Given the description of an element on the screen output the (x, y) to click on. 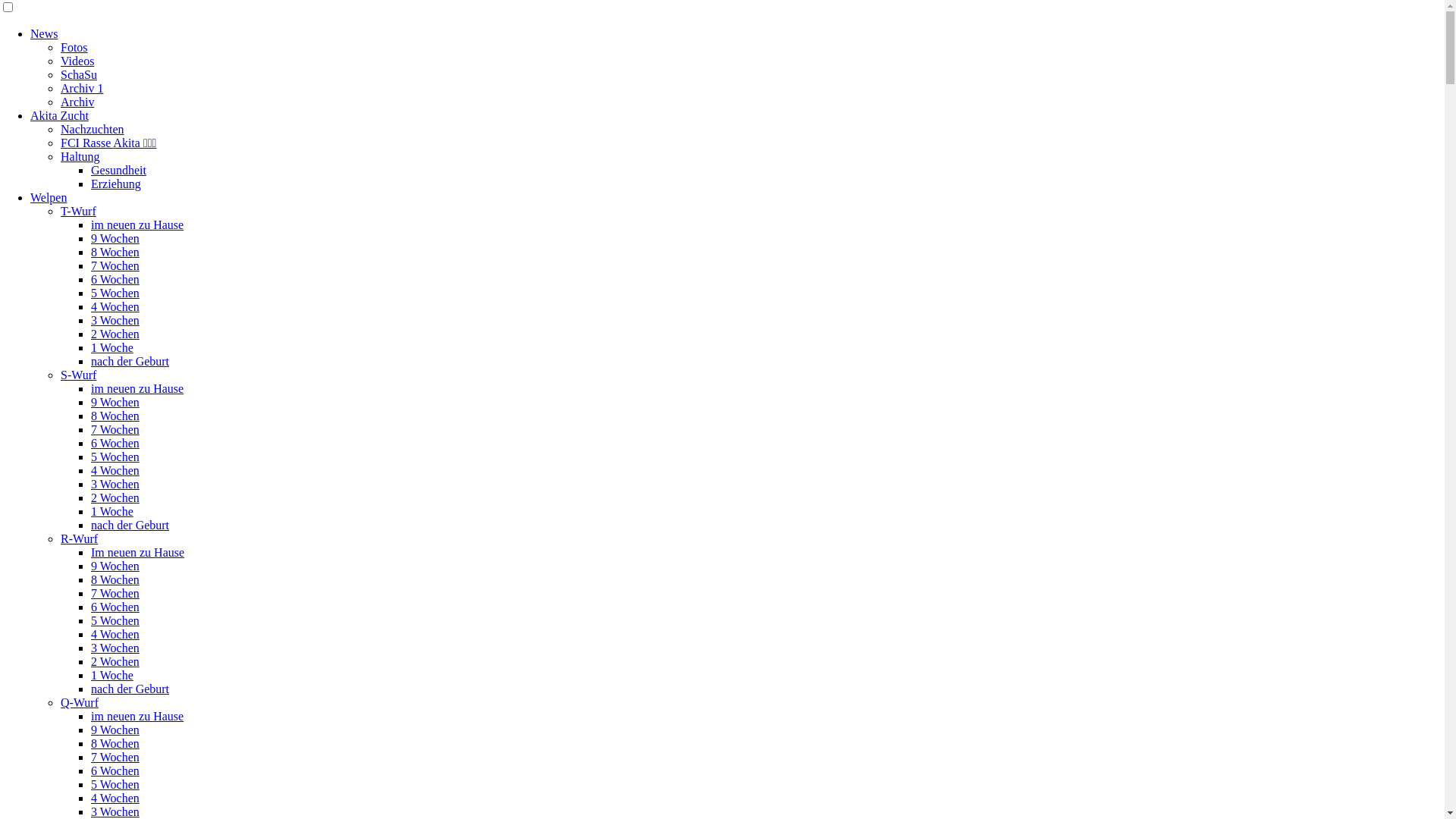
7 Wochen Element type: text (115, 592)
6 Wochen Element type: text (115, 606)
7 Wochen Element type: text (115, 265)
4 Wochen Element type: text (115, 470)
Erziehung Element type: text (116, 183)
2 Wochen Element type: text (115, 661)
nach der Geburt Element type: text (130, 688)
9 Wochen Element type: text (115, 565)
nach der Geburt Element type: text (130, 524)
Welpen Element type: text (48, 197)
5 Wochen Element type: text (115, 784)
2 Wochen Element type: text (115, 497)
S-Wurf Element type: text (78, 374)
8 Wochen Element type: text (115, 743)
im neuen zu Hause Element type: text (137, 224)
5 Wochen Element type: text (115, 620)
1 Woche Element type: text (112, 674)
Fotos Element type: text (73, 46)
4 Wochen Element type: text (115, 797)
Akita Zucht Element type: text (59, 115)
R-Wurf Element type: text (78, 538)
Videos Element type: text (77, 60)
Archiv Element type: text (77, 101)
9 Wochen Element type: text (115, 729)
Haltung Element type: text (80, 156)
Nachzuchten Element type: text (92, 128)
6 Wochen Element type: text (115, 770)
3 Wochen Element type: text (115, 483)
4 Wochen Element type: text (115, 633)
SchaSu Element type: text (78, 74)
1 Woche Element type: text (112, 511)
1 Woche Element type: text (112, 347)
News Element type: text (43, 33)
T-Wurf Element type: text (78, 210)
im neuen zu Hause Element type: text (137, 715)
9 Wochen Element type: text (115, 238)
4 Wochen Element type: text (115, 306)
7 Wochen Element type: text (115, 756)
5 Wochen Element type: text (115, 292)
Q-Wurf Element type: text (79, 702)
3 Wochen Element type: text (115, 319)
im neuen zu Hause Element type: text (137, 388)
8 Wochen Element type: text (115, 579)
nach der Geburt Element type: text (130, 360)
7 Wochen Element type: text (115, 429)
5 Wochen Element type: text (115, 456)
6 Wochen Element type: text (115, 279)
8 Wochen Element type: text (115, 251)
3 Wochen Element type: text (115, 811)
Im neuen zu Hause Element type: text (137, 552)
9 Wochen Element type: text (115, 401)
6 Wochen Element type: text (115, 442)
8 Wochen Element type: text (115, 415)
3 Wochen Element type: text (115, 647)
2 Wochen Element type: text (115, 333)
Archiv 1 Element type: text (81, 87)
Gesundheit Element type: text (118, 169)
